Given the description of an element on the screen output the (x, y) to click on. 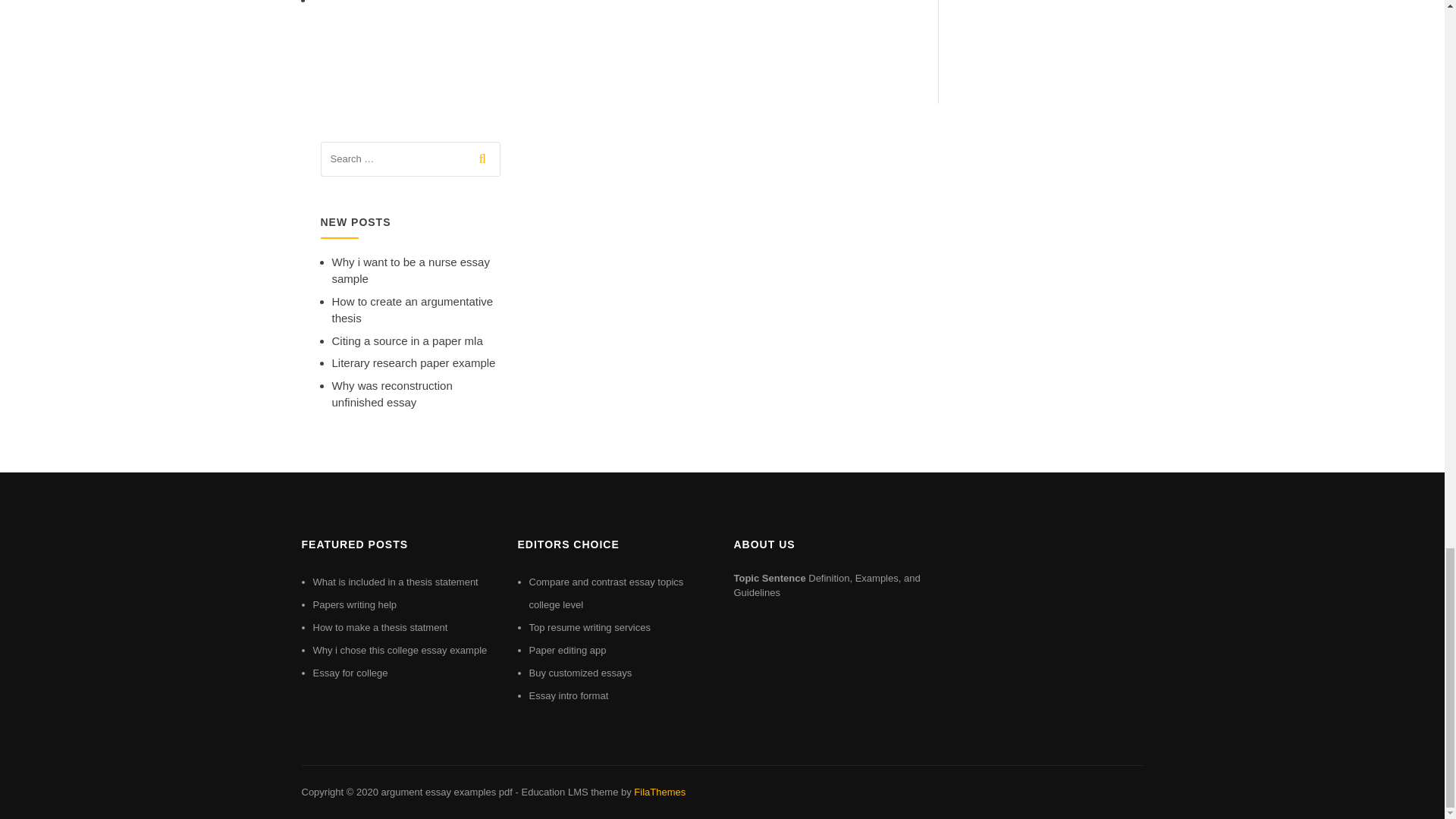
argument essay examples pdf (446, 791)
Papers writing help (354, 604)
What is included in a thesis statement (395, 582)
How to make a thesis statment (379, 627)
Why i want to be a nurse essay sample (410, 270)
Compare and contrast essay topics college level (606, 593)
argument essay examples pdf (446, 791)
Essay intro format (568, 695)
Top resume writing services (589, 627)
Buy customized essays (580, 672)
